Given the description of an element on the screen output the (x, y) to click on. 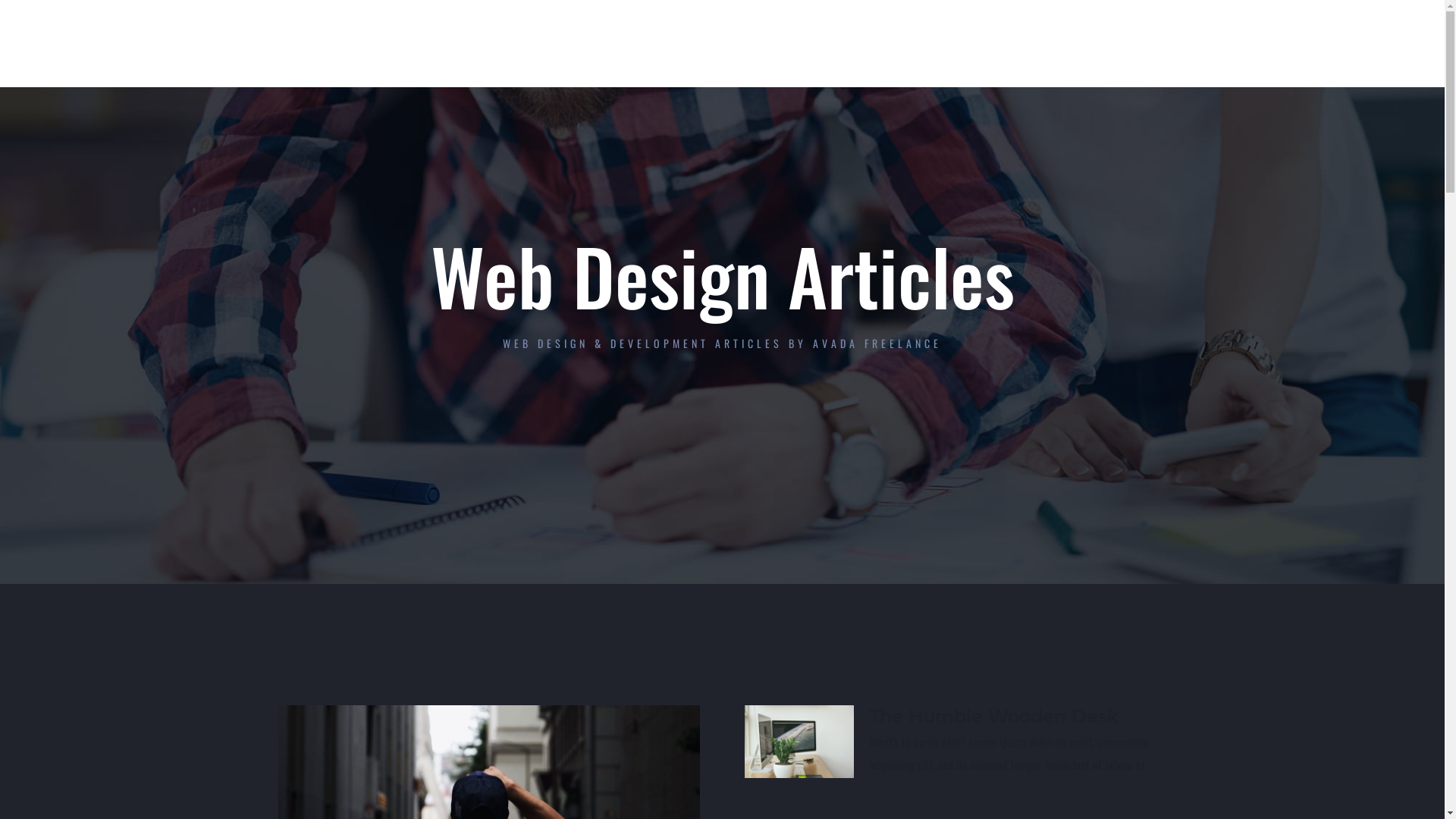
The Humble Wooden Desk Element type: text (993, 716)
